Given the description of an element on the screen output the (x, y) to click on. 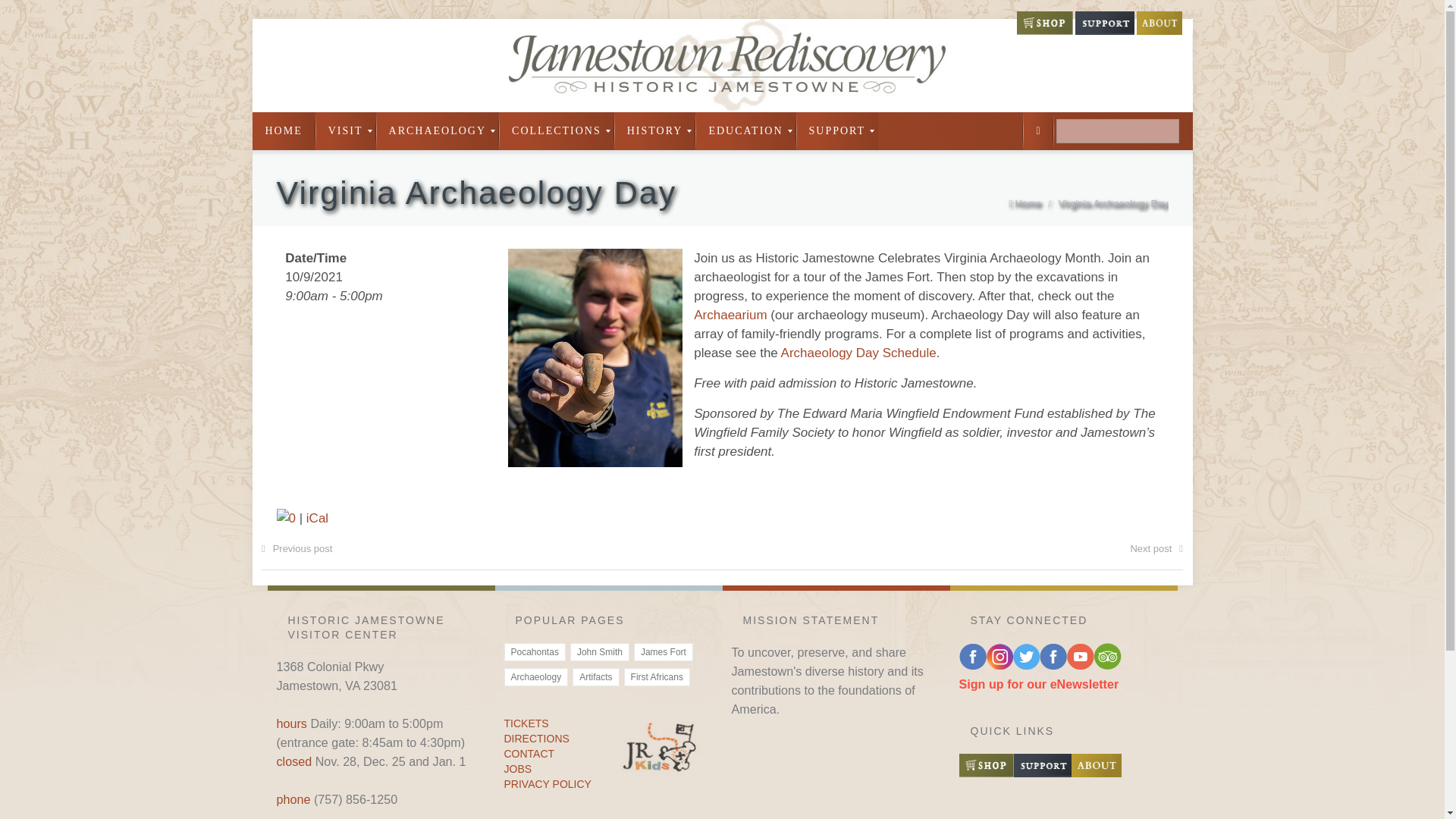
COLLECTIONS (556, 130)
HOME (282, 130)
shop (985, 772)
Historic Jamestowne (721, 65)
HISTORY (654, 130)
VISIT (345, 130)
shop (1043, 30)
jamestowne-trip-advisor (1107, 664)
ARCHAEOLOGY (437, 130)
